Given the description of an element on the screen output the (x, y) to click on. 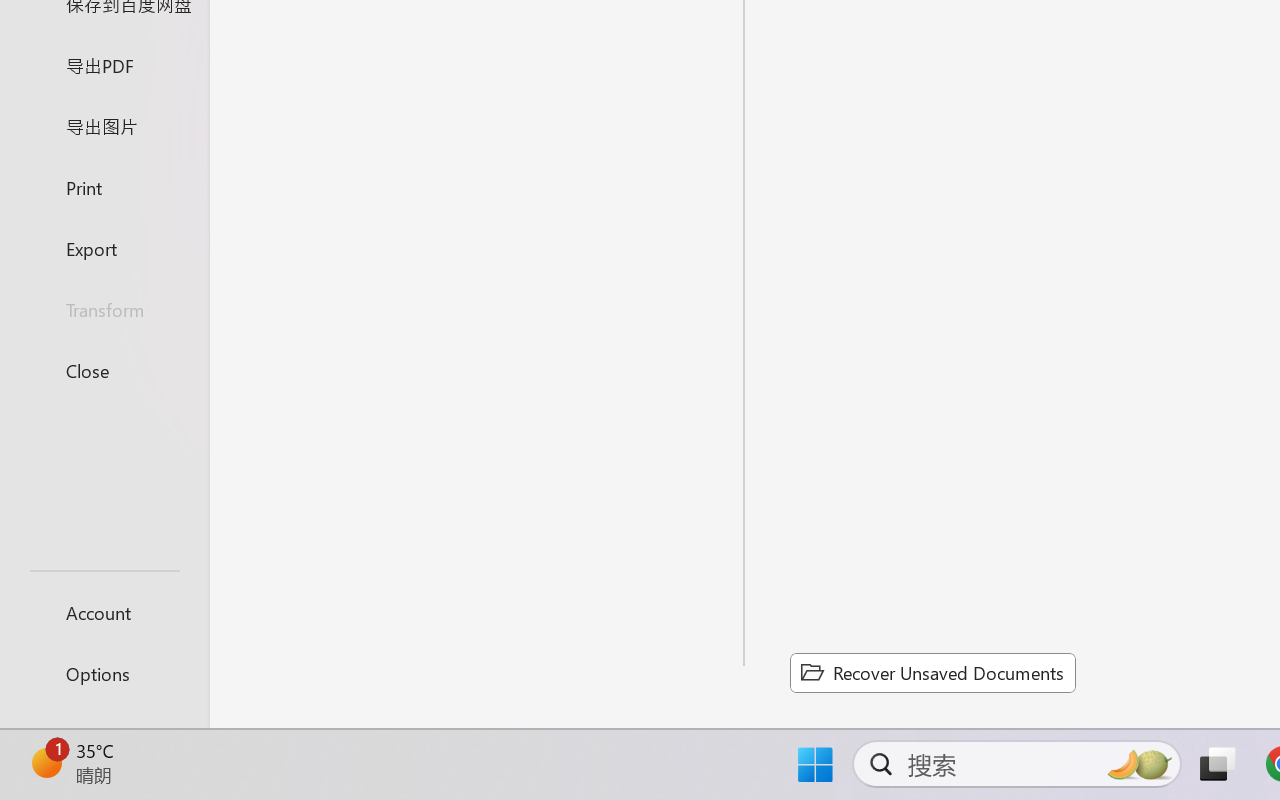
Export (104, 248)
Transform (104, 309)
Print (104, 186)
Recover Unsaved Documents (932, 672)
Options (104, 673)
Account (104, 612)
